Given the description of an element on the screen output the (x, y) to click on. 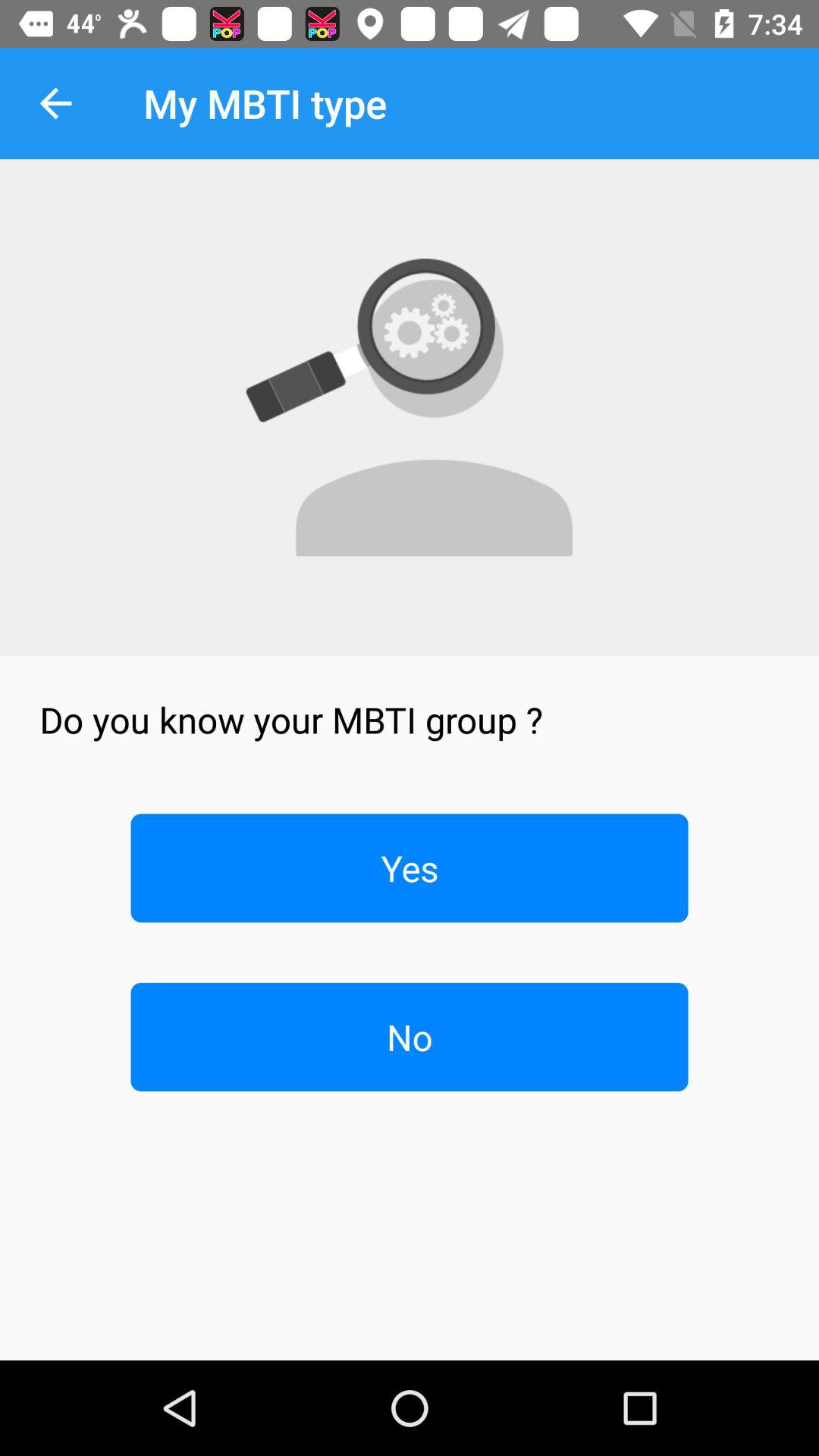
click the no (409, 1036)
